Given the description of an element on the screen output the (x, y) to click on. 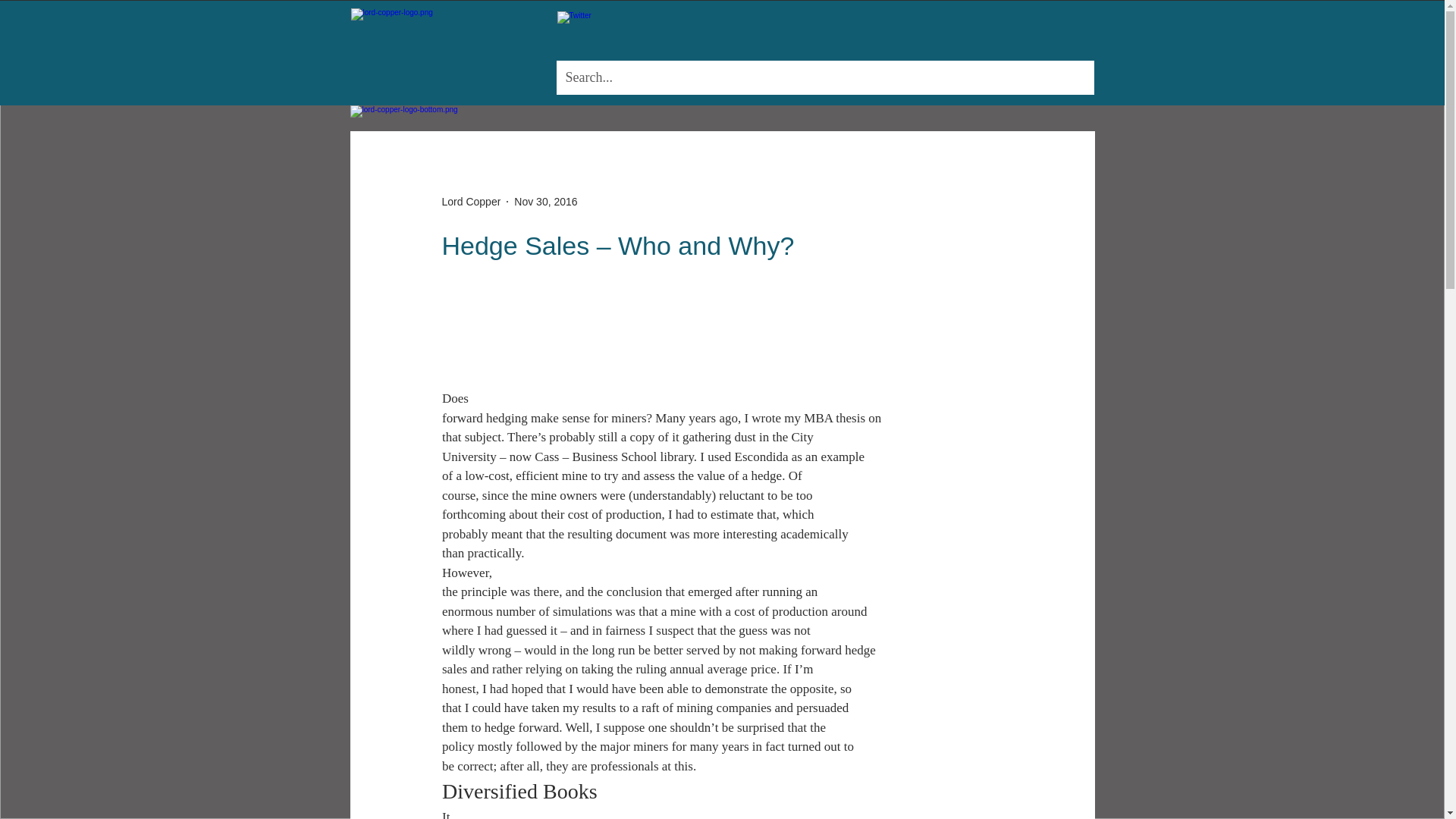
Lord Copper (470, 201)
Nov 30, 2016 (544, 201)
